Given the description of an element on the screen output the (x, y) to click on. 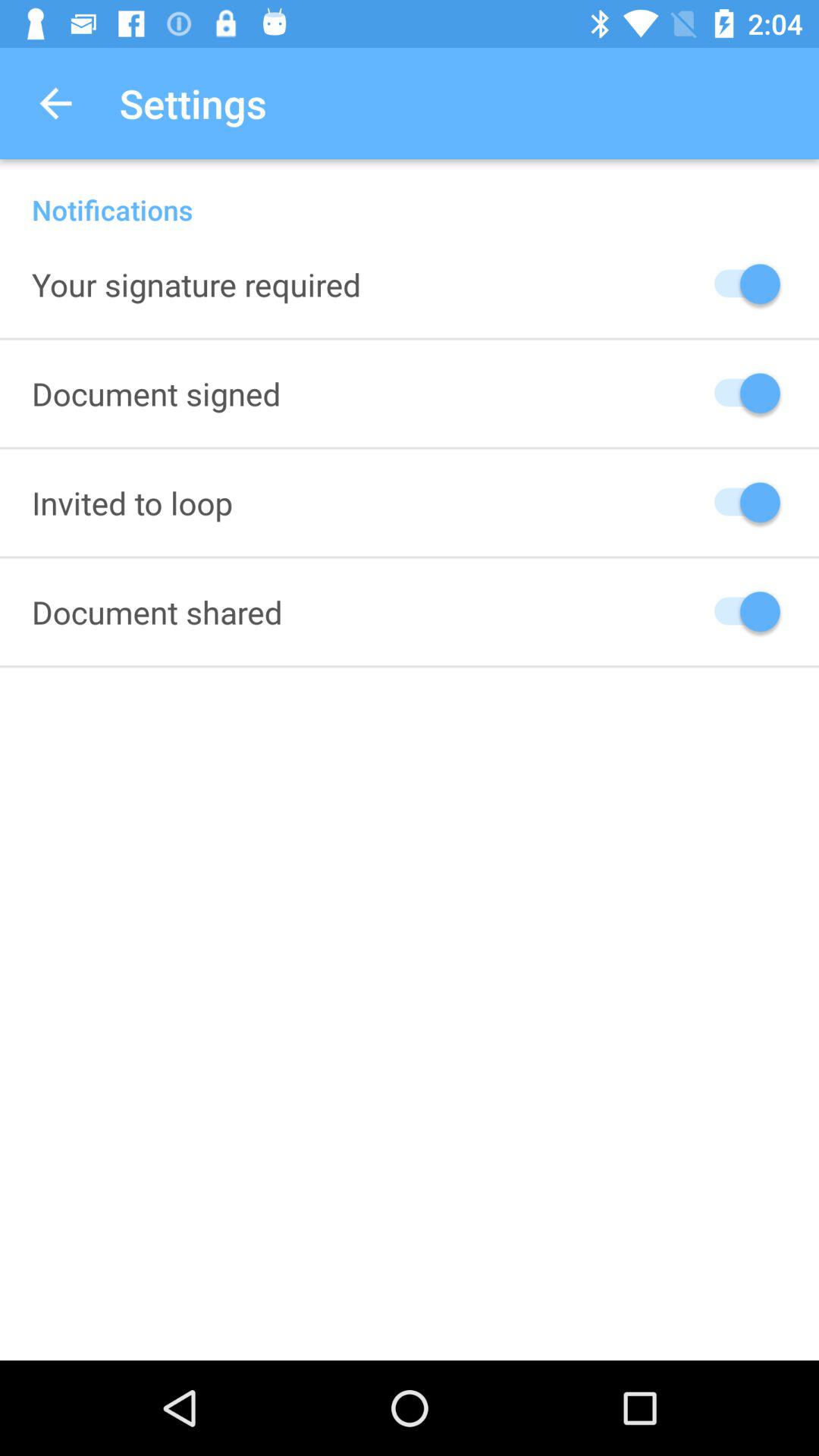
tap the icon next to settings item (55, 103)
